Given the description of an element on the screen output the (x, y) to click on. 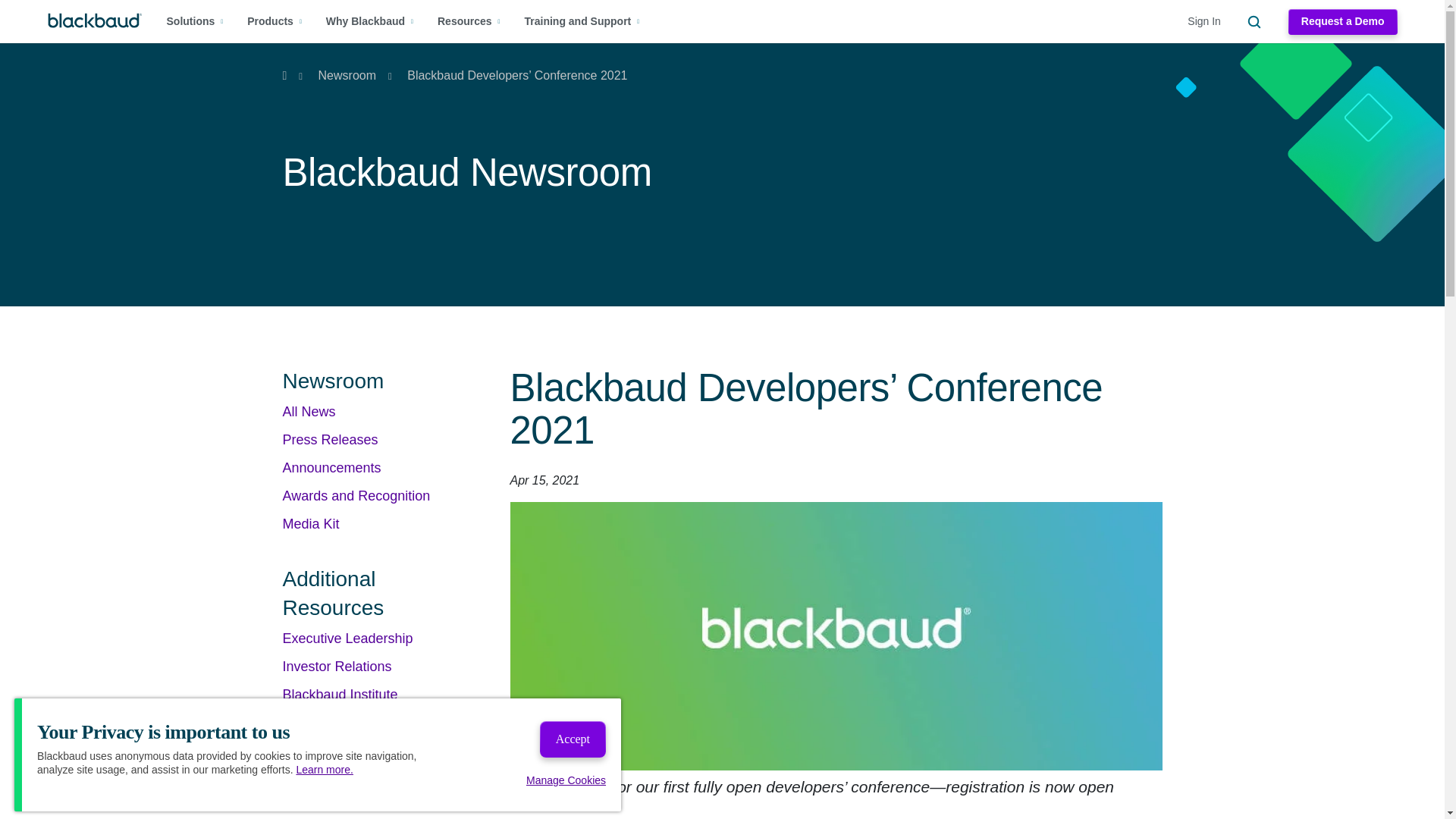
Why Blackbaud (369, 21)
Solutions (195, 21)
Products (274, 21)
